Given the description of an element on the screen output the (x, y) to click on. 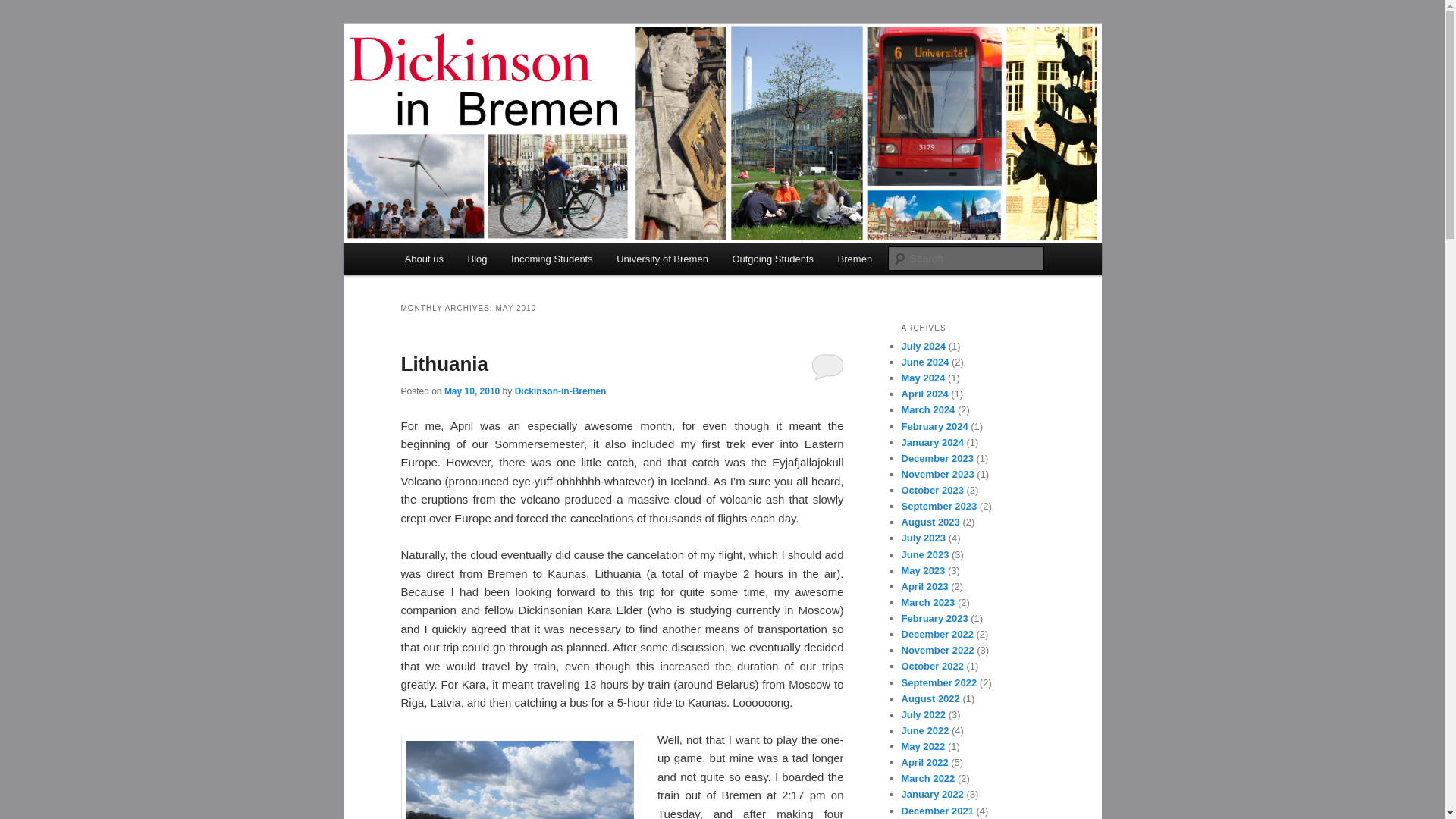
Dickinson-in-Bremen (561, 390)
May 10, 2010 (471, 390)
University of Bremen (661, 258)
Bremen (854, 258)
Outgoing Students (772, 258)
Bremen Study Abroad Program (569, 78)
Search (24, 8)
Blog (477, 258)
Incoming Students (551, 258)
Lithuania (443, 363)
View all posts by Dickinson-in-Bremen (561, 390)
About us (424, 258)
11:42 am (471, 390)
